Given the description of an element on the screen output the (x, y) to click on. 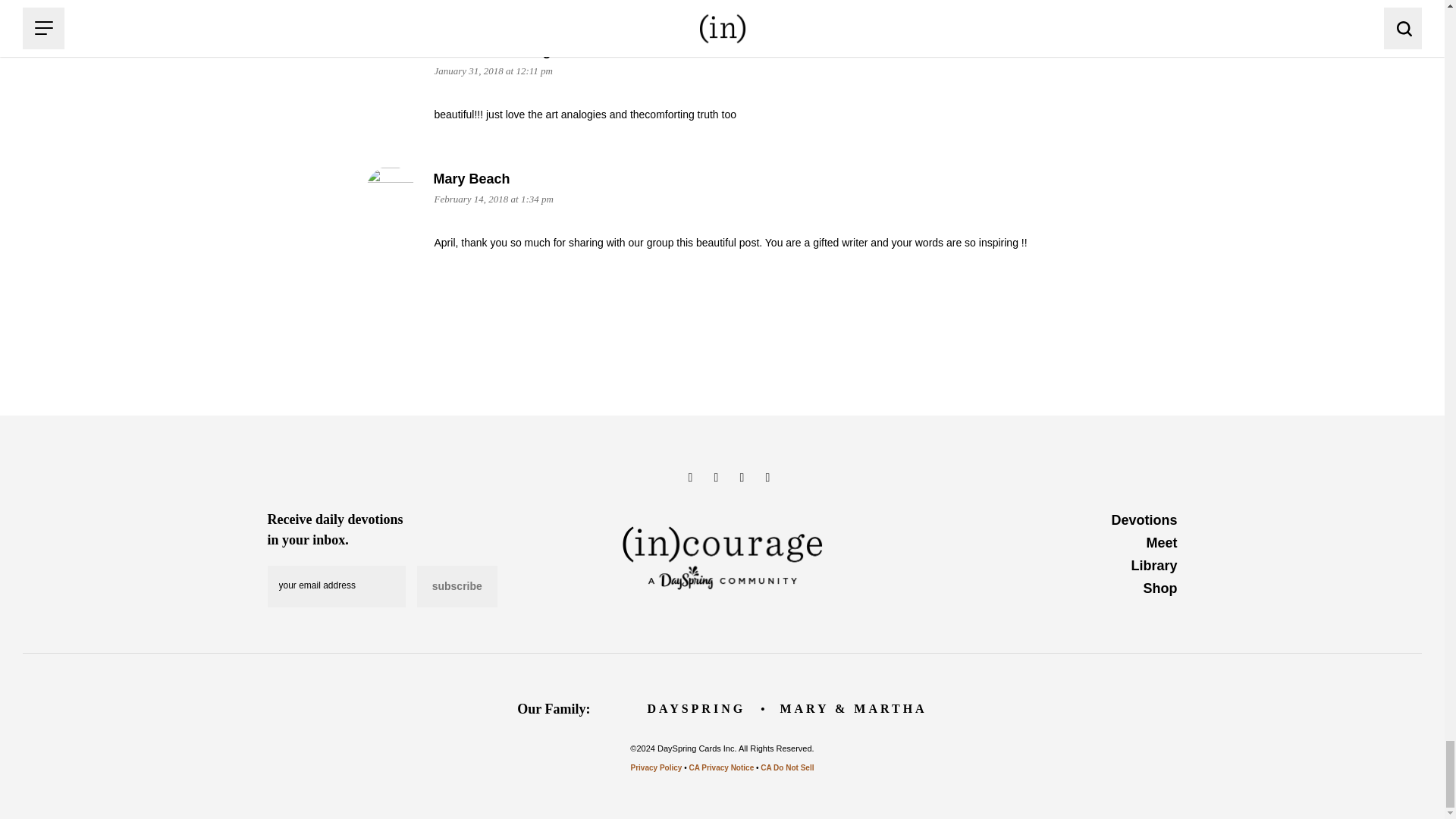
Subscribe (456, 586)
